Given the description of an element on the screen output the (x, y) to click on. 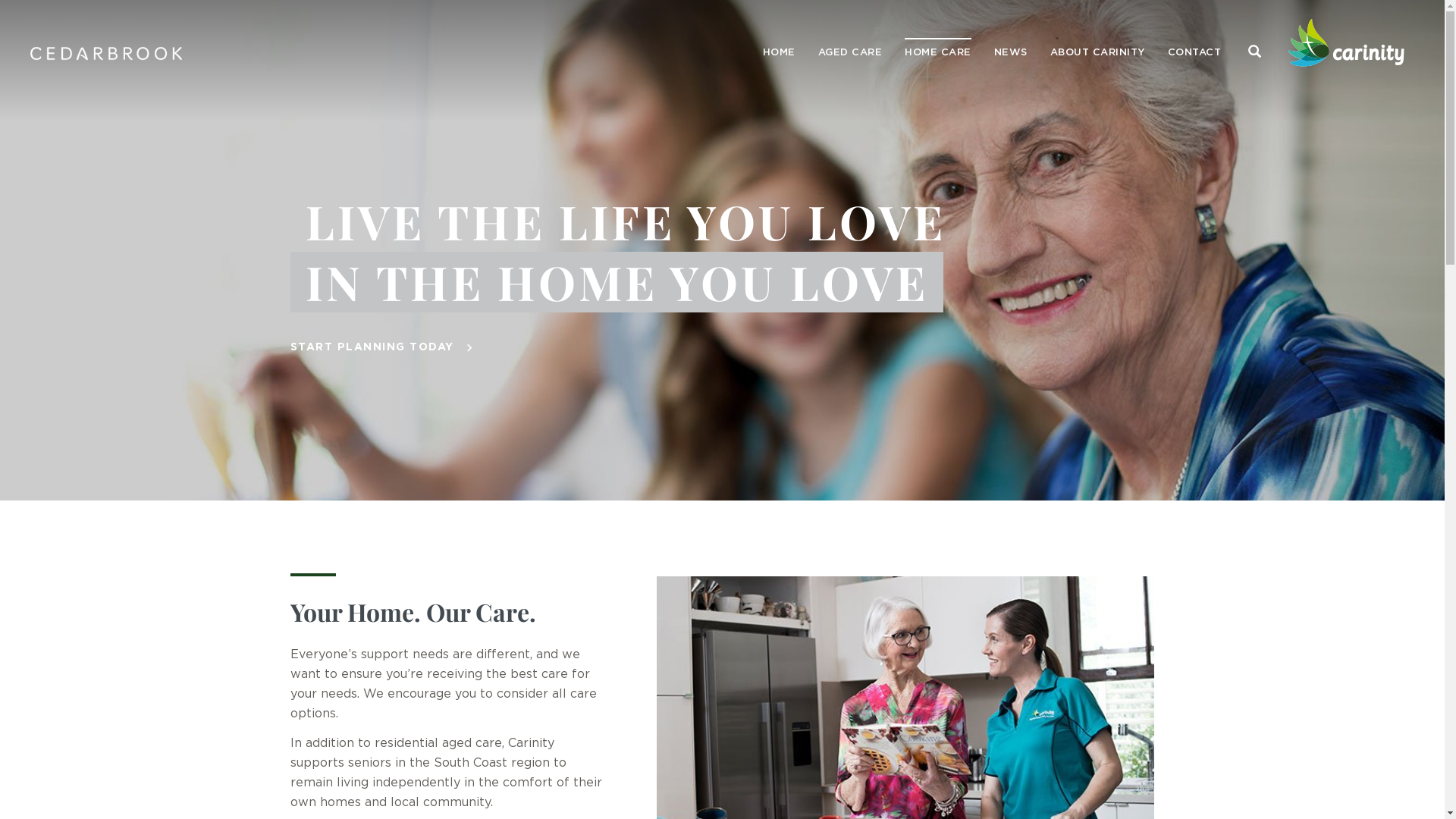
HOME Element type: text (778, 52)
CONTACT Element type: text (1193, 52)
NEWS Element type: text (1010, 52)
ABOUT CARINITY Element type: text (1097, 52)
HOME CARE Element type: text (937, 52)
START PLANNING TODAY Element type: text (371, 347)
AGED CARE Element type: text (850, 52)
